Given the description of an element on the screen output the (x, y) to click on. 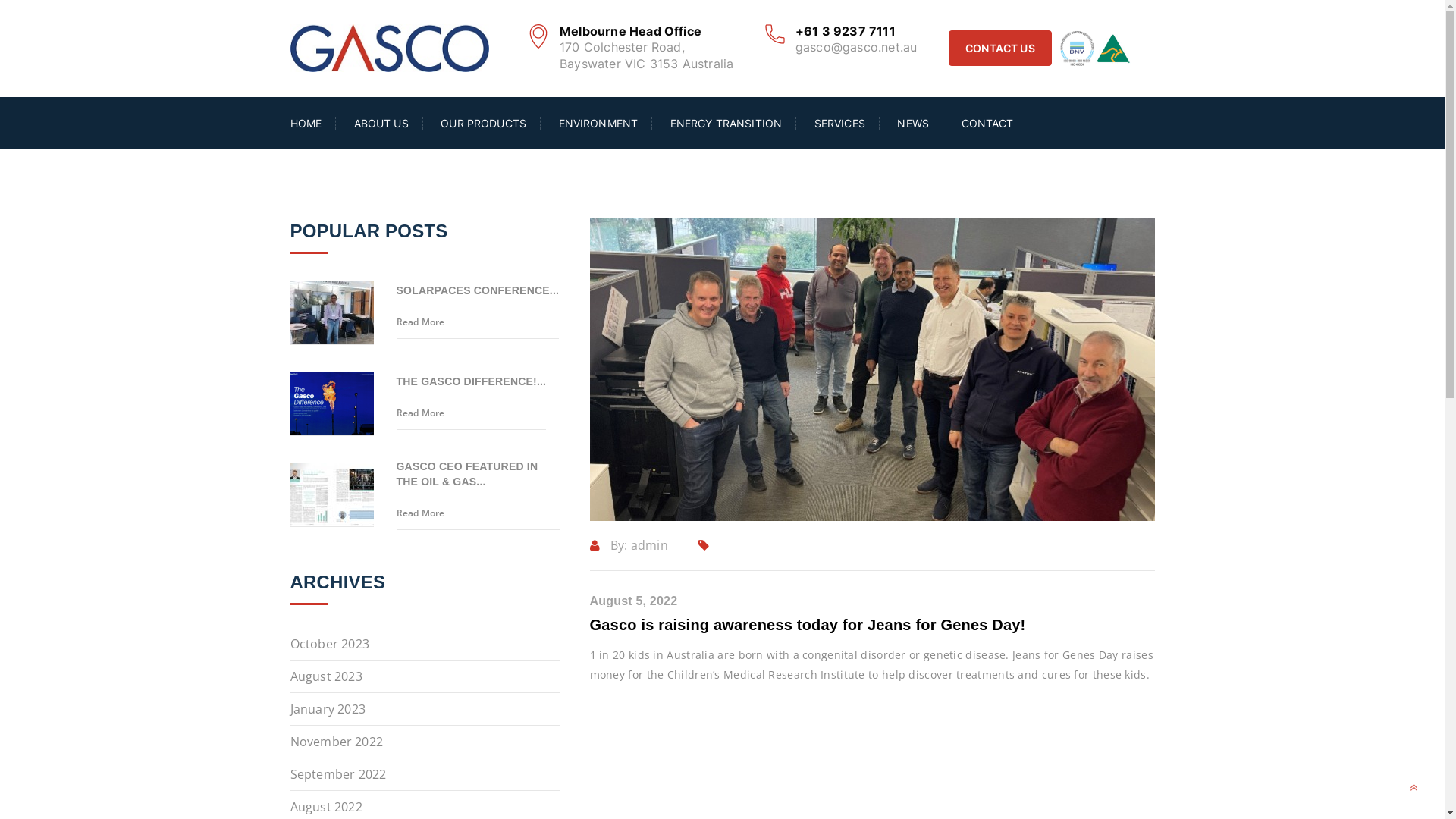
Gasco is raising awareness today for Jeans for Genes Day! Element type: text (807, 624)
admin Element type: text (649, 544)
NEWS Element type: text (913, 122)
SERVICES Element type: text (840, 122)
CONTACT US Element type: text (999, 47)
Read More Element type: text (476, 322)
January 2023 Element type: text (423, 709)
Heat Transfer & Combustion Products Element type: hover (389, 46)
Read More Element type: text (476, 513)
August 2023 Element type: text (423, 676)
THE GASCO DIFFERENCE!... Element type: text (470, 385)
GASCO CEO FEATURED IN THE OIL & GAS... Element type: text (476, 477)
October 2023 Element type: text (423, 643)
CONTACT Element type: text (980, 122)
SOLARPACES CONFERENCE... Element type: text (476, 294)
September 2022 Element type: text (423, 774)
ENERGY TRANSITION Element type: text (726, 122)
ABOUT US Element type: text (381, 122)
ENVIRONMENT Element type: text (598, 122)
November 2022 Element type: text (423, 741)
OUR PRODUCTS Element type: text (483, 122)
HOME Element type: text (312, 122)
Read More Element type: text (470, 413)
